Given the description of an element on the screen output the (x, y) to click on. 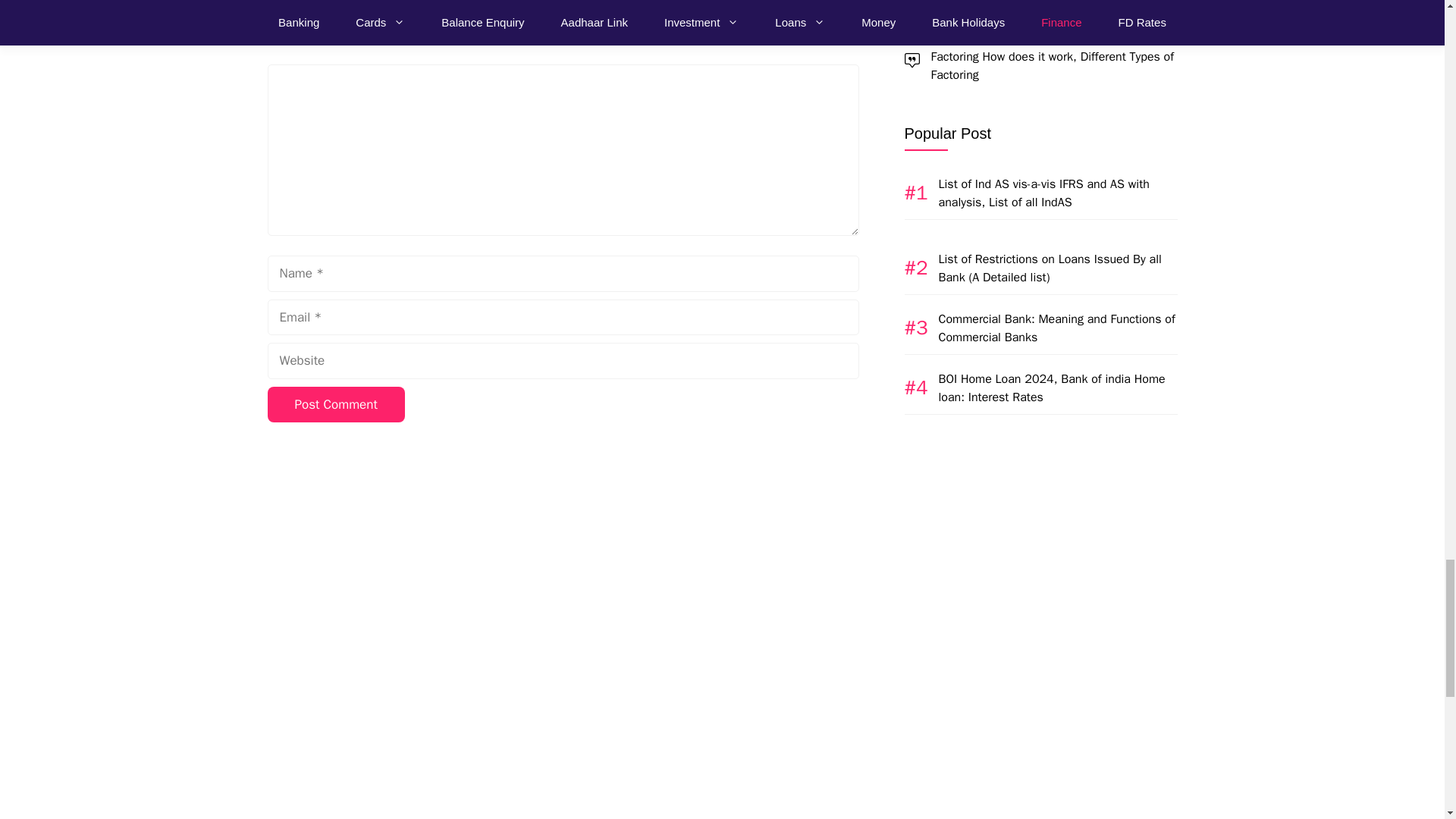
Post Comment (335, 404)
